Given the description of an element on the screen output the (x, y) to click on. 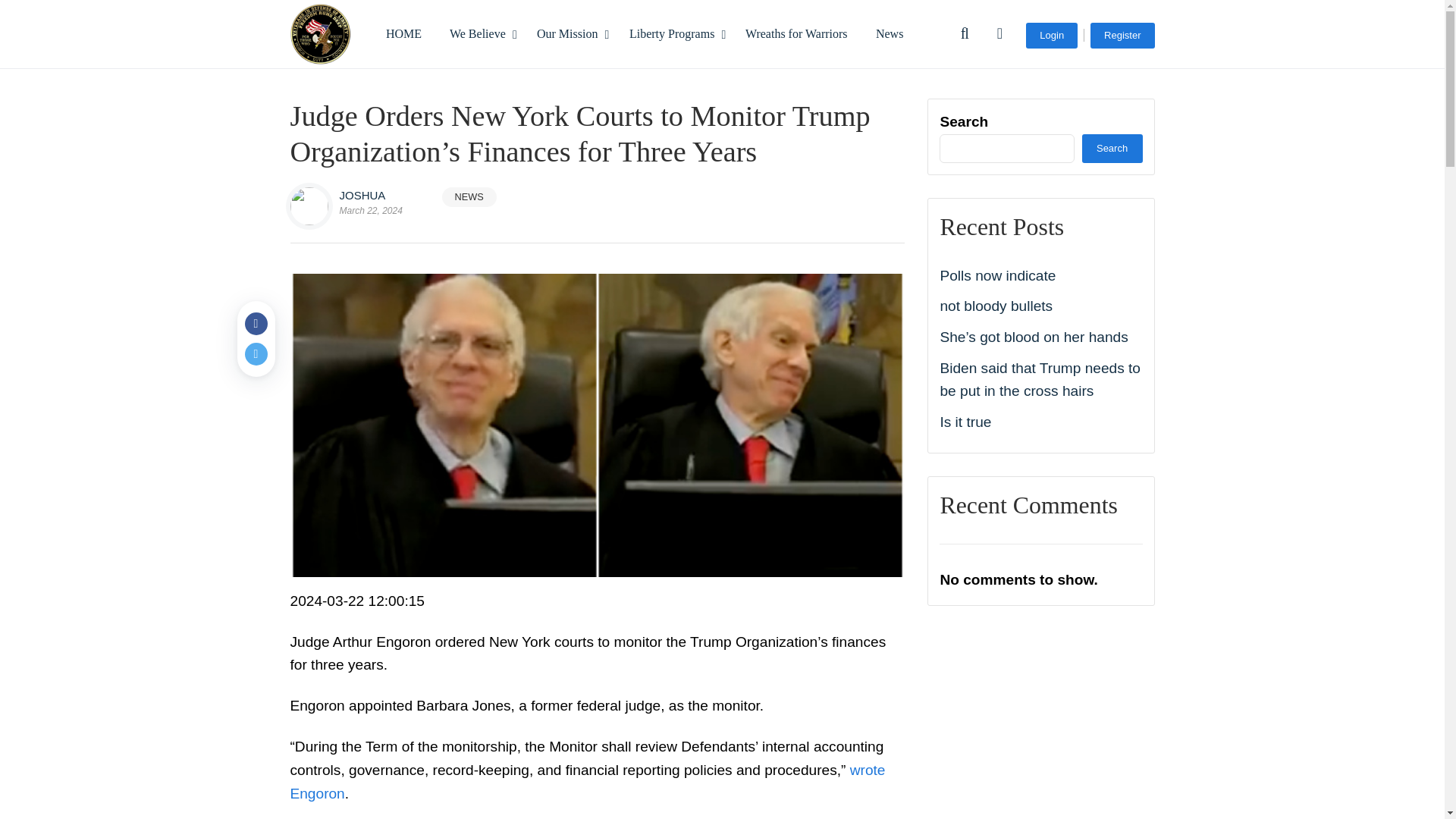
Our Mission (568, 33)
Login (1051, 35)
Facebook (255, 323)
Register (1122, 35)
Register (1122, 35)
Wreaths for Warriors (796, 33)
Liberty Programs (673, 33)
Twitter (255, 354)
We Believe (479, 33)
Login (1051, 35)
News (889, 33)
HOME (402, 33)
Search (1094, 101)
